Given the description of an element on the screen output the (x, y) to click on. 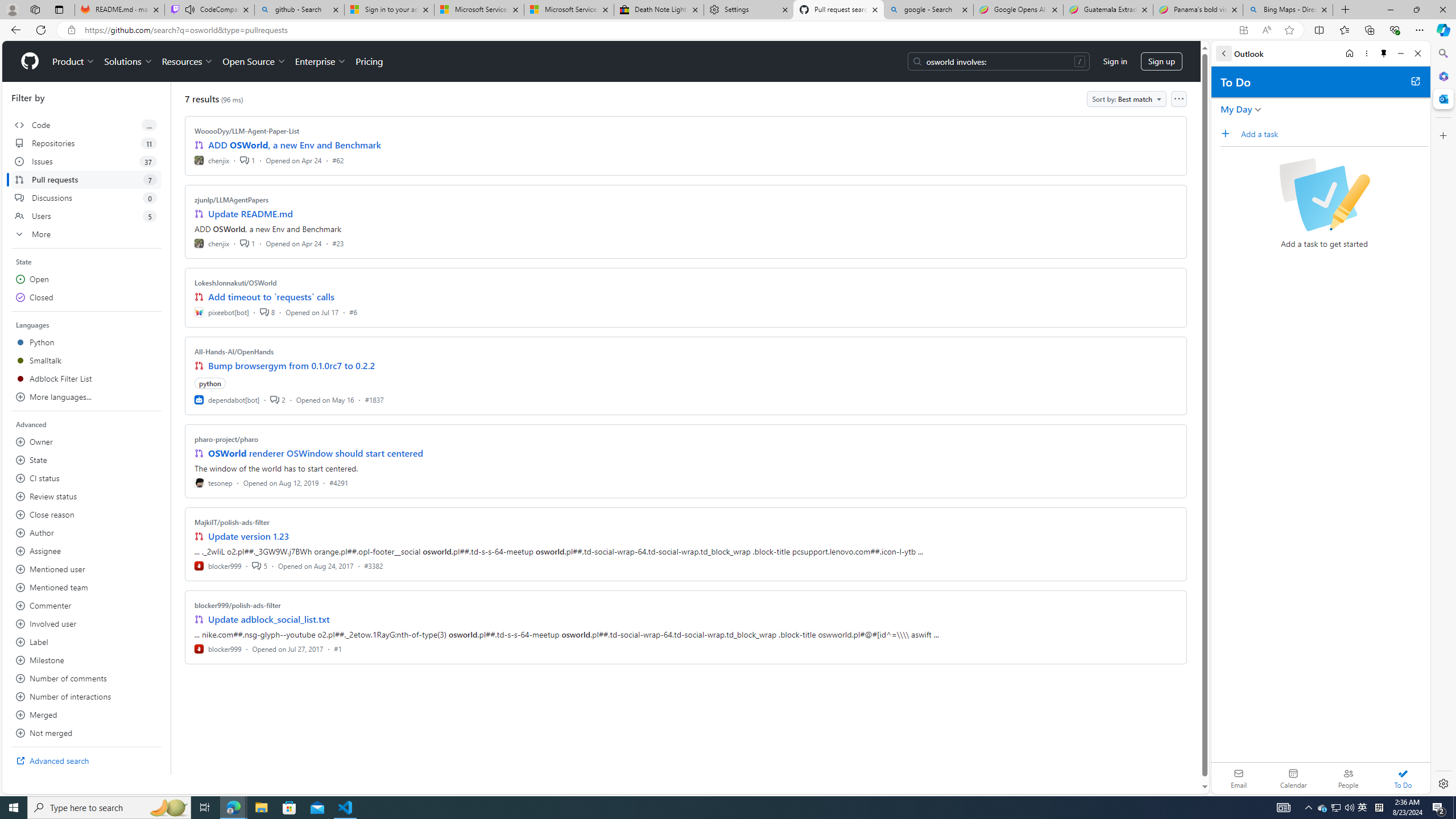
dependabot[bot] (227, 398)
Google Opens AI Academy for Startups - Nearshore Americas (1018, 9)
Mute tab (189, 8)
Bump browsergym from 0.1.0rc7 to 0.2.2 (291, 365)
blocker999/polish-ads-filter (238, 605)
pixeebot[bot] (221, 311)
Resources (187, 60)
